Given the description of an element on the screen output the (x, y) to click on. 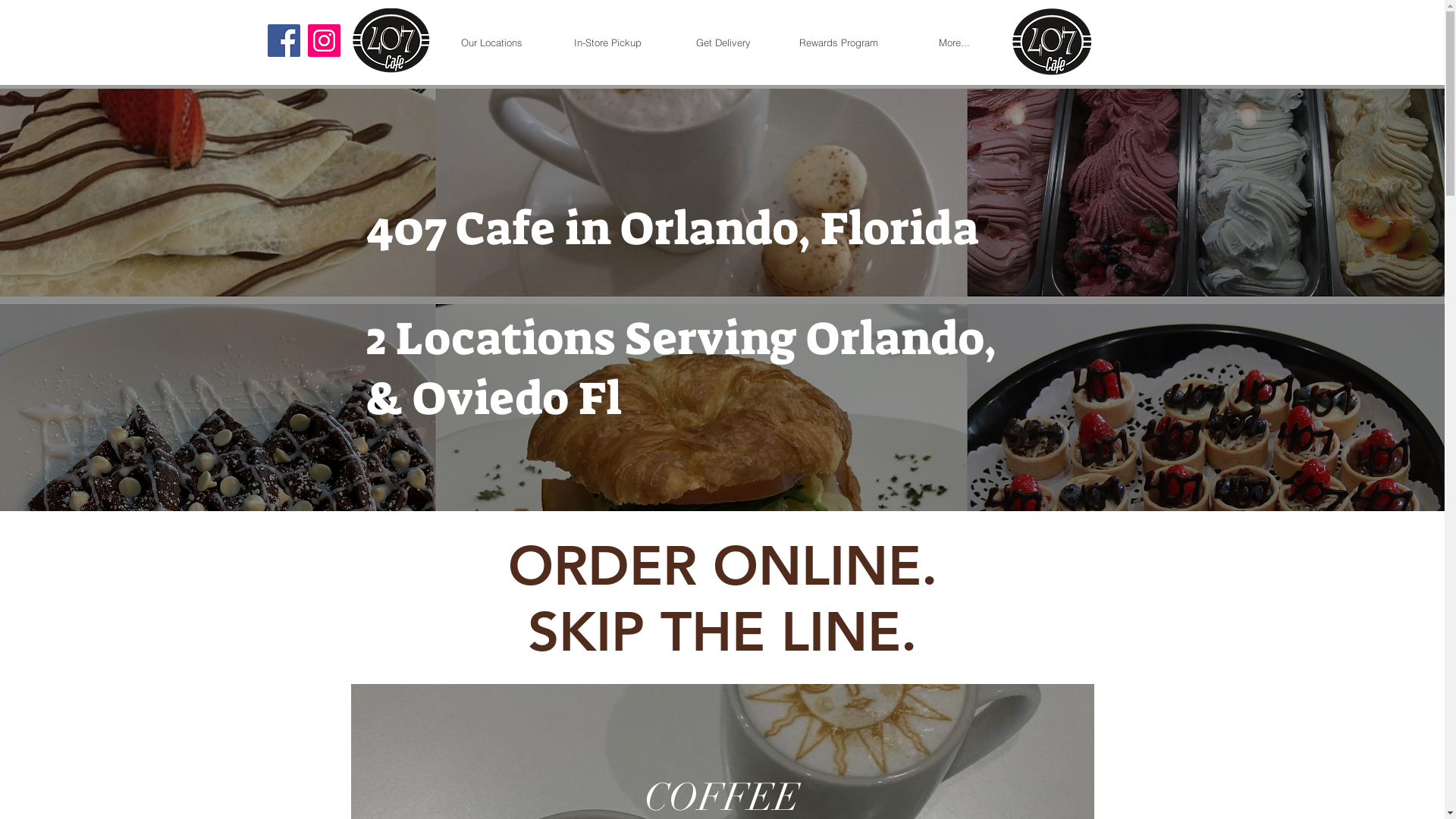
Our Locations Element type: text (491, 42)
In-Store Pickup Element type: text (607, 42)
Rewards Program Element type: text (838, 42)
Get Delivery Element type: text (723, 42)
